Given the description of an element on the screen output the (x, y) to click on. 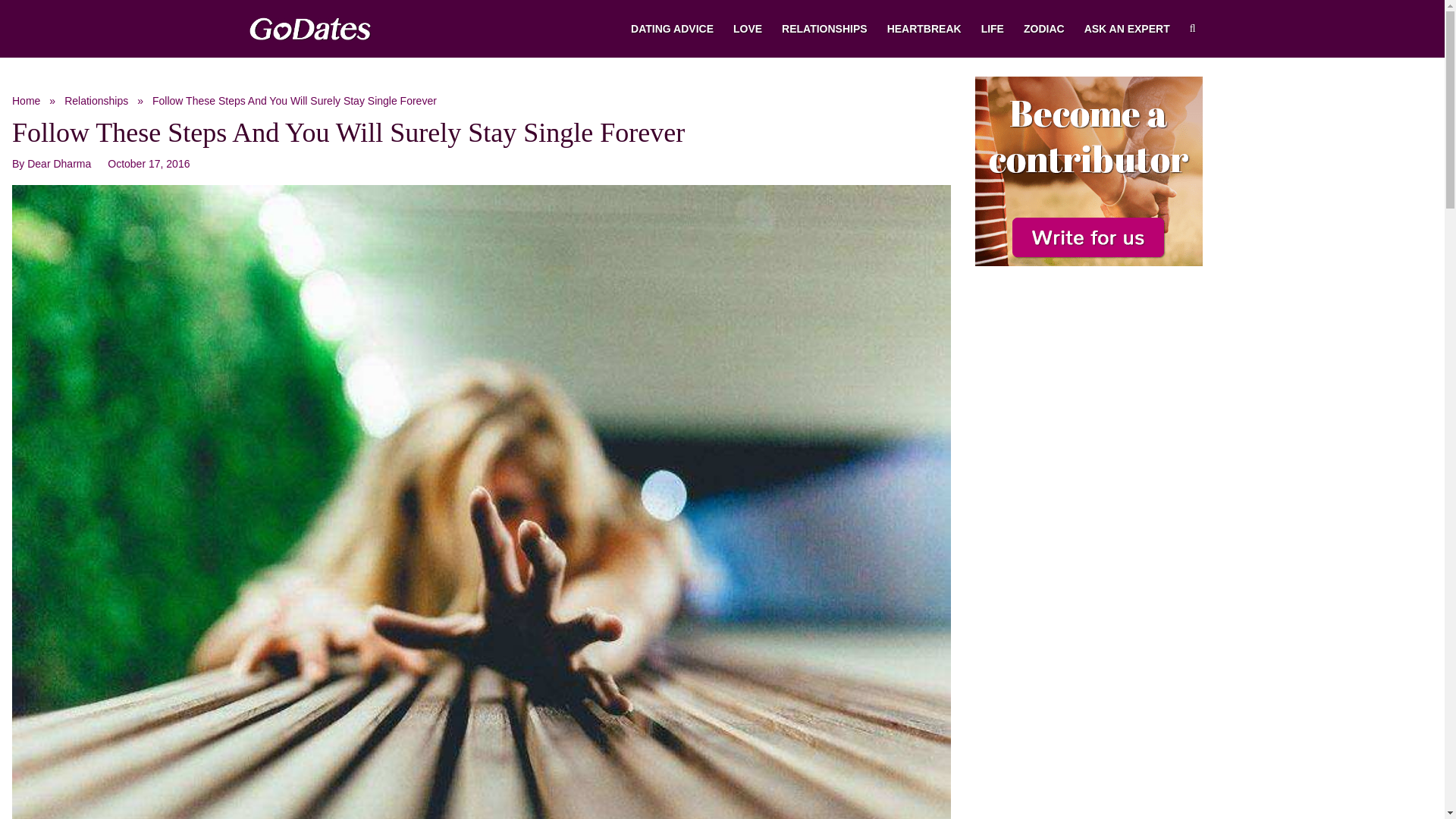
Relationships (96, 100)
ASK AN EXPERT (1126, 28)
View all posts by Dear Dharma (50, 163)
RELATIONSHIPS (824, 28)
HEARTBREAK (924, 28)
ZODIAC (1043, 28)
By Dear Dharma (50, 163)
Home (25, 100)
Relationships (96, 100)
LIFE (992, 28)
GoDates (25, 100)
DATING ADVICE (672, 28)
LOVE (747, 28)
